Given the description of an element on the screen output the (x, y) to click on. 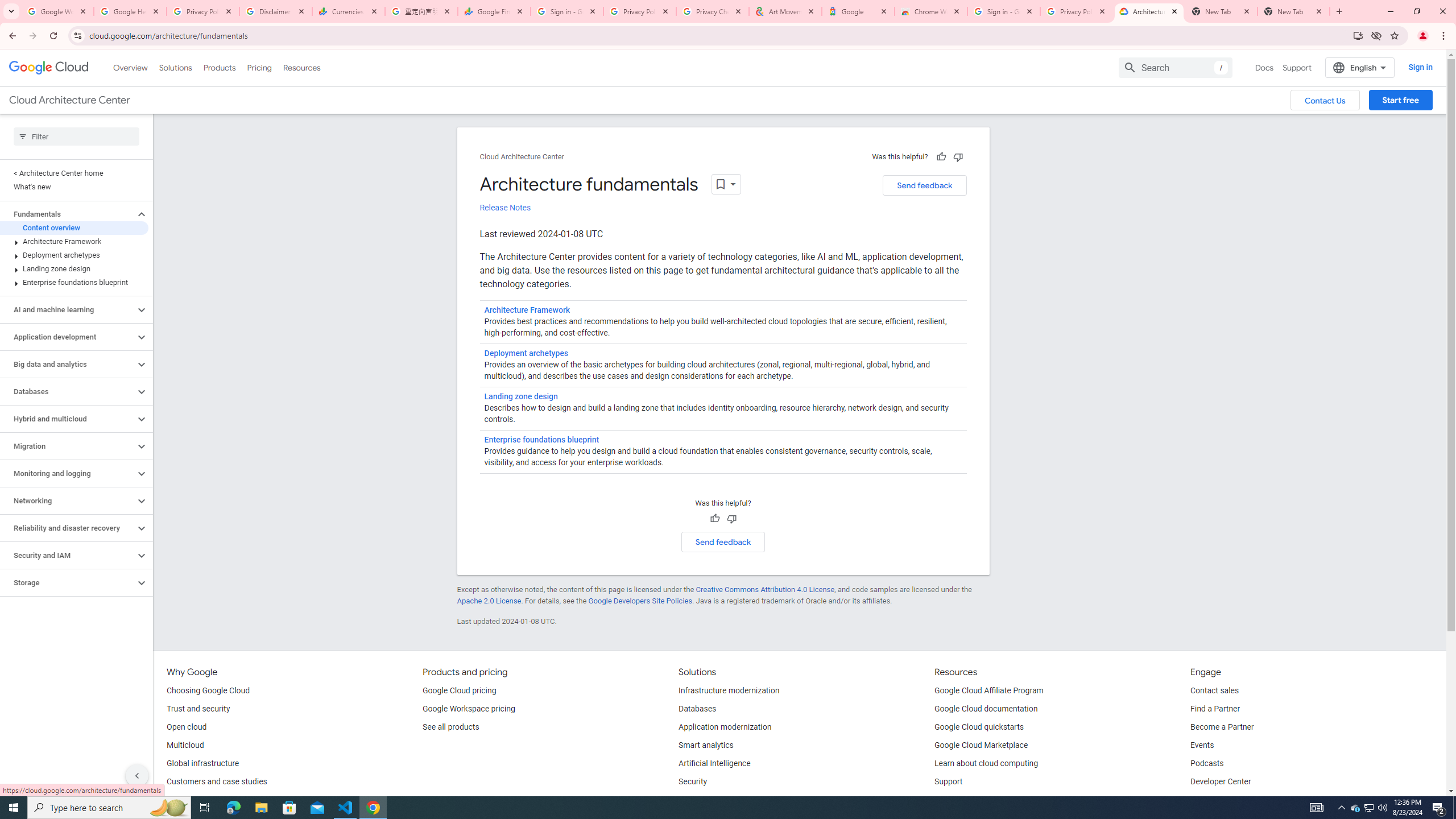
Multicloud (184, 745)
Start free (1400, 100)
Google Cloud pricing (459, 691)
English (1359, 67)
Helpful (714, 518)
Enterprise foundations blueprint (541, 439)
Type to filter (76, 136)
Developer Center (1220, 782)
Not helpful (731, 518)
Sign in - Google Accounts (566, 11)
Events (1202, 745)
